Given the description of an element on the screen output the (x, y) to click on. 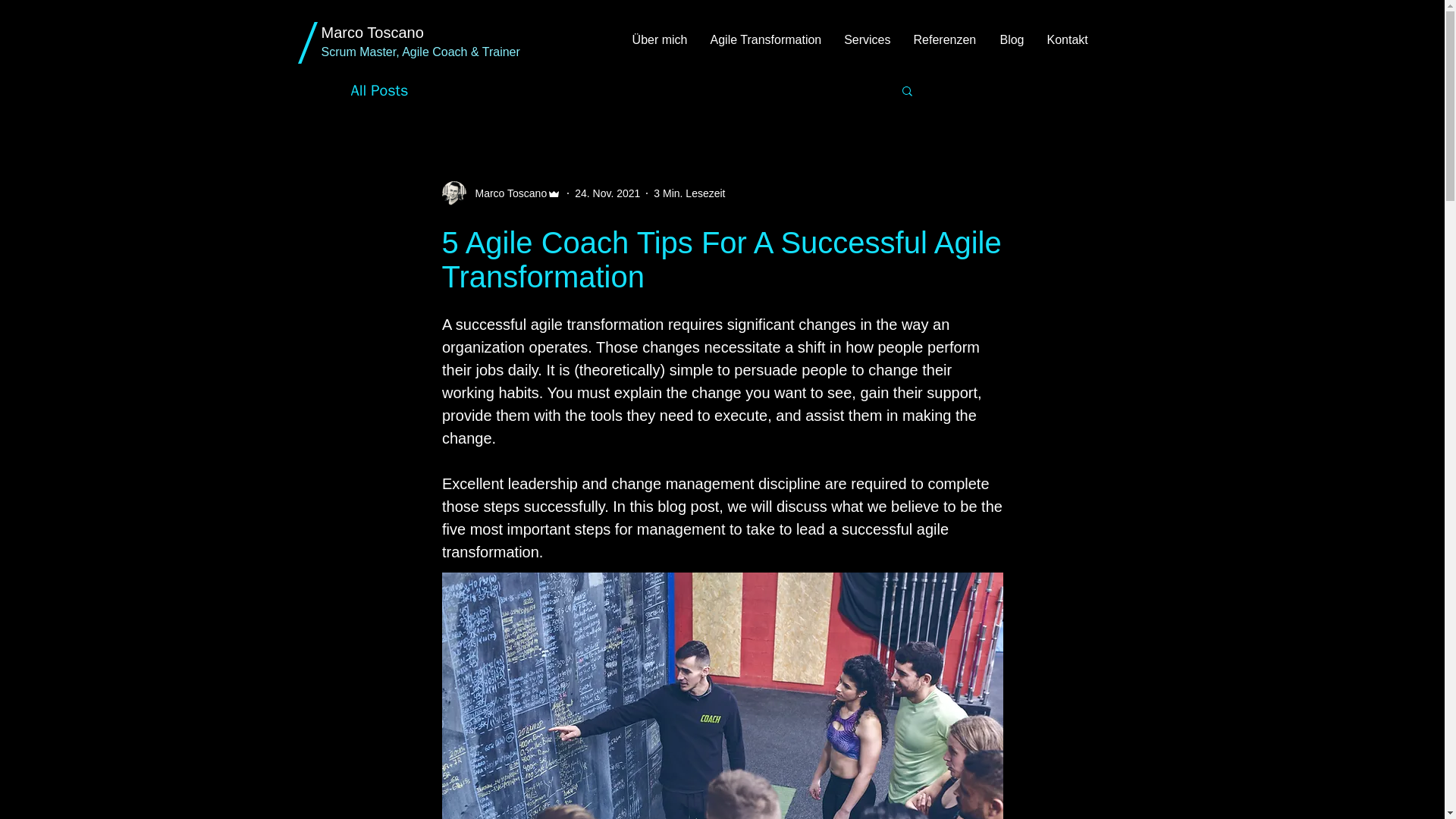
All Posts (378, 90)
Blog (1011, 39)
Marco Toscano (372, 32)
Kontakt (1067, 39)
Agile Transformation (765, 39)
Marco Toscano (506, 192)
Referenzen (944, 39)
Services (867, 39)
24. Nov. 2021 (607, 192)
3 Min. Lesezeit (689, 192)
